Given the description of an element on the screen output the (x, y) to click on. 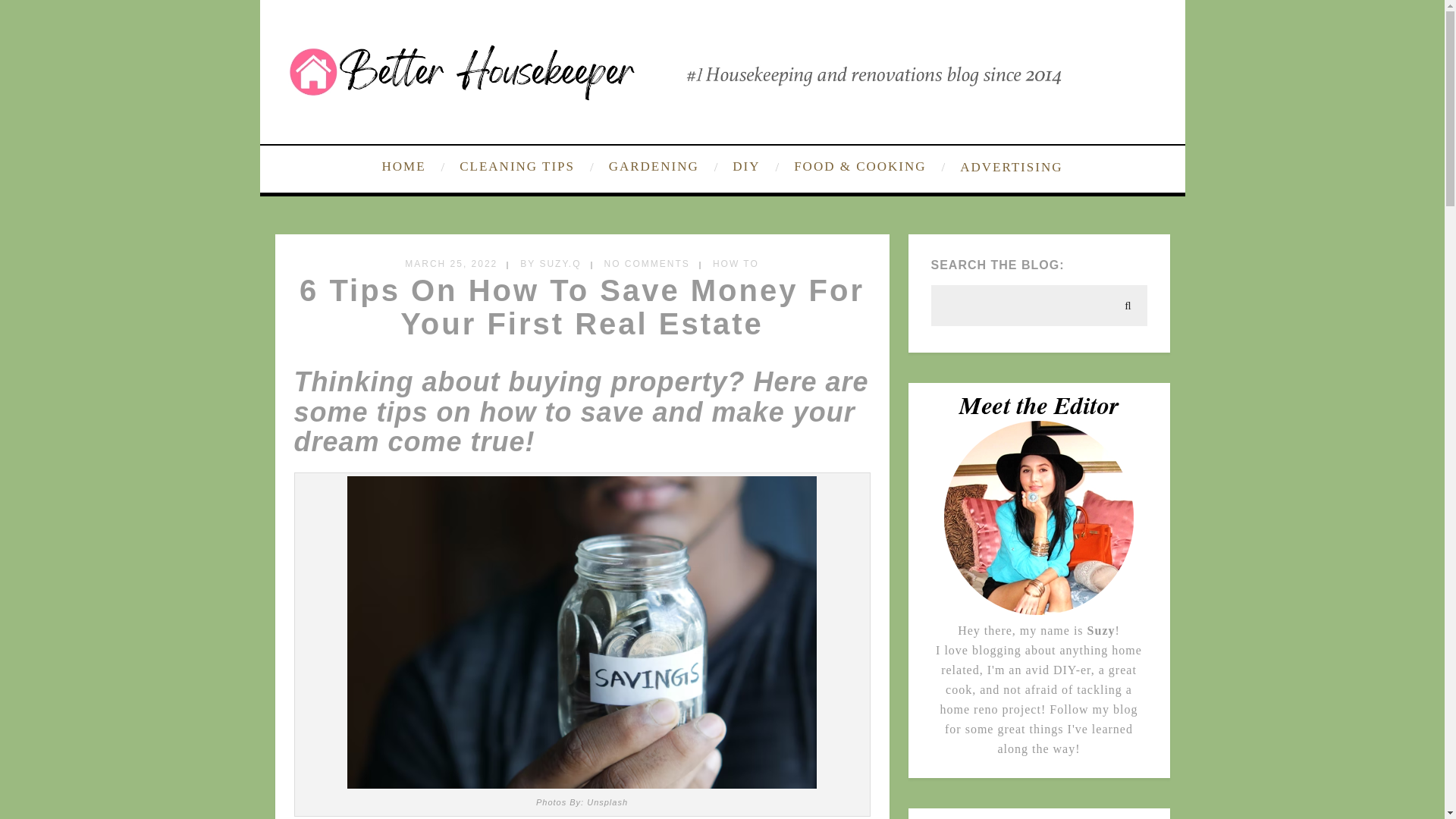
CLEANING TIPS (523, 167)
BY SUZY.Q (549, 263)
NO COMMENTS (647, 263)
MARCH 25, 2022 (450, 263)
HOW TO (735, 263)
GARDENING (661, 167)
HOME (414, 167)
DIY (754, 167)
